Given the description of an element on the screen output the (x, y) to click on. 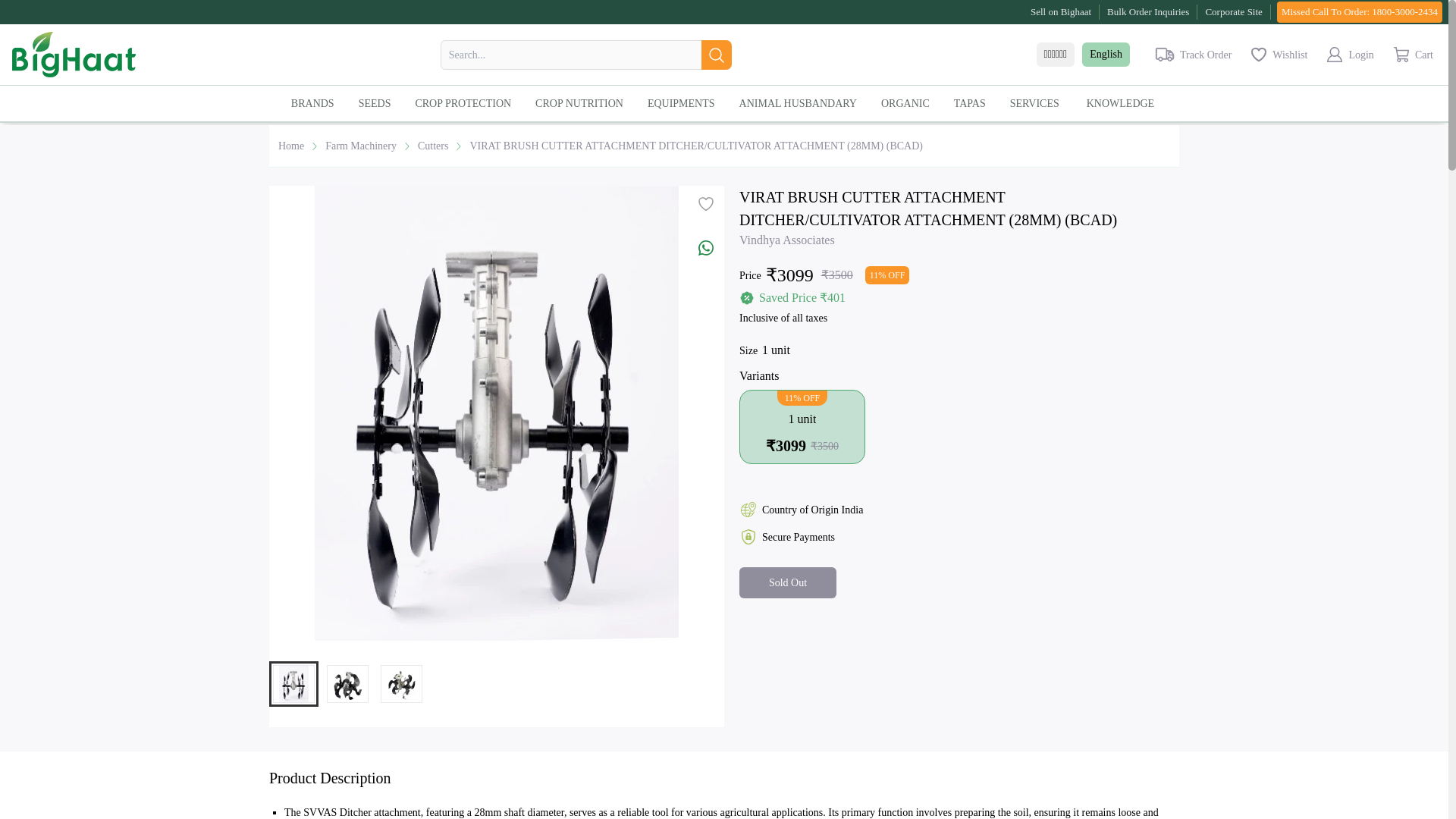
CROP PROTECTION (468, 102)
Missed Call To Order: 1800-3000-2434 (1359, 11)
Login (1348, 54)
BRANDS (318, 102)
Wishlist (1278, 54)
ANIMAL HUSBANDARY (804, 102)
SERVICES (1040, 102)
English (1105, 54)
ANIMAL HUSBANDARY (804, 102)
Farm Machinery (360, 145)
EQUIPMENTS (687, 102)
Bulk Order Inquiries (1147, 11)
CROP NUTRITION (585, 102)
EQUIPMENTS (686, 102)
SEEDS (380, 102)
